Given the description of an element on the screen output the (x, y) to click on. 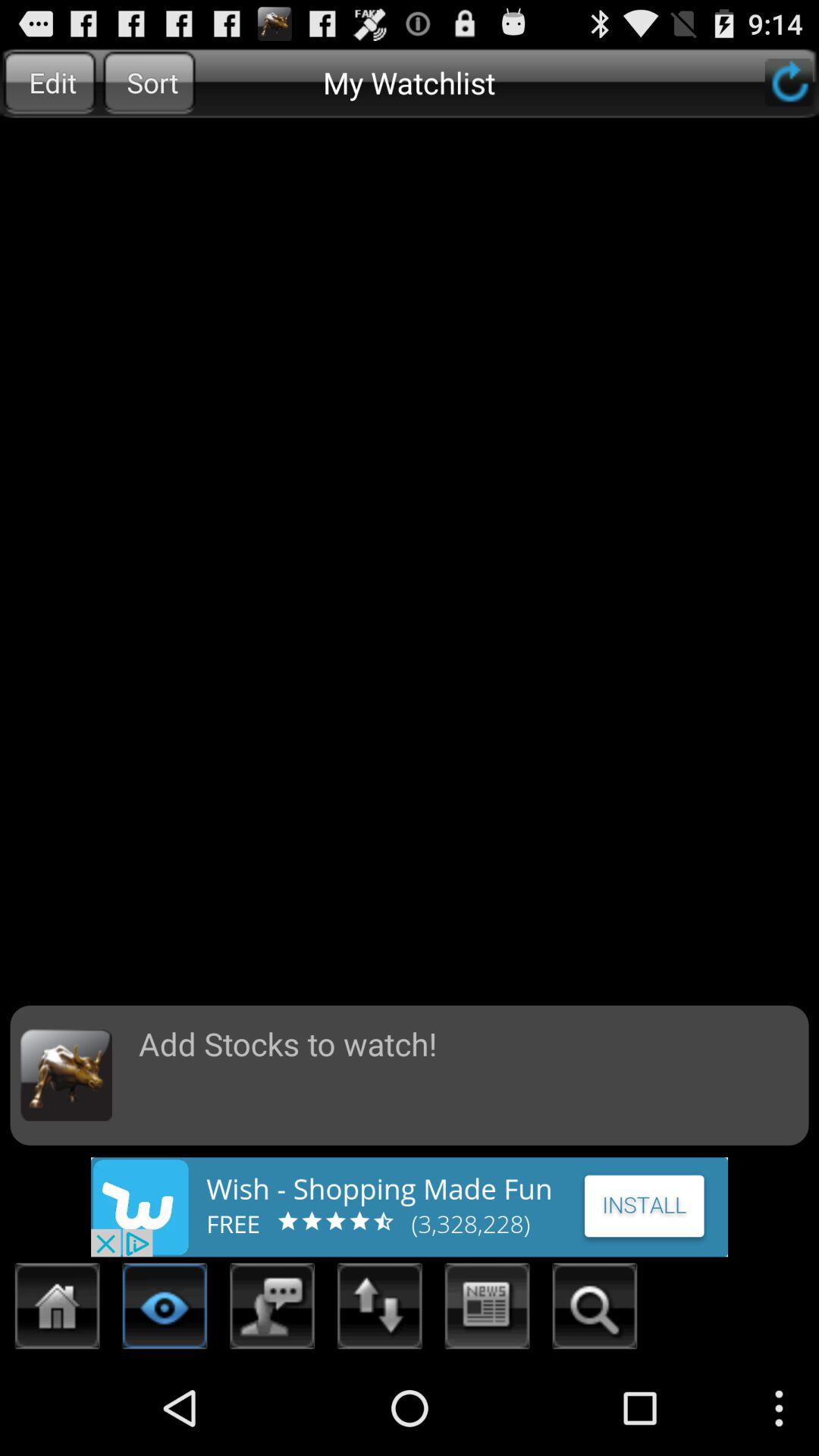
up and down (379, 1310)
